Given the description of an element on the screen output the (x, y) to click on. 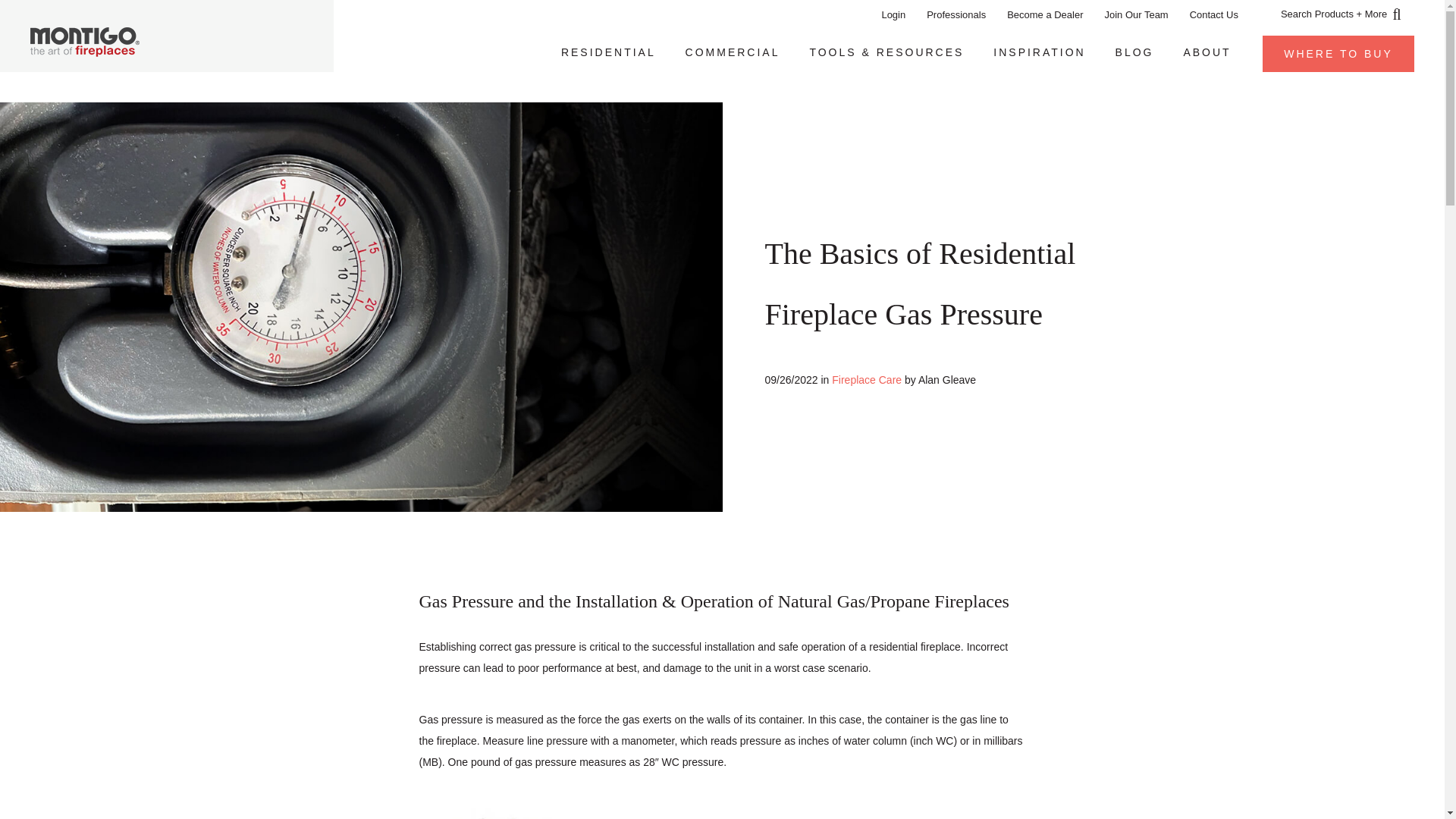
Contact Us (1214, 13)
Join Our Team (1135, 13)
INSPIRATION (1039, 52)
RESIDENTIAL (607, 52)
Become a Dealer (1044, 13)
Professionals (955, 13)
Login (892, 13)
Montigo - the art of fireplaces  (84, 41)
COMMERCIAL (732, 52)
